Given the description of an element on the screen output the (x, y) to click on. 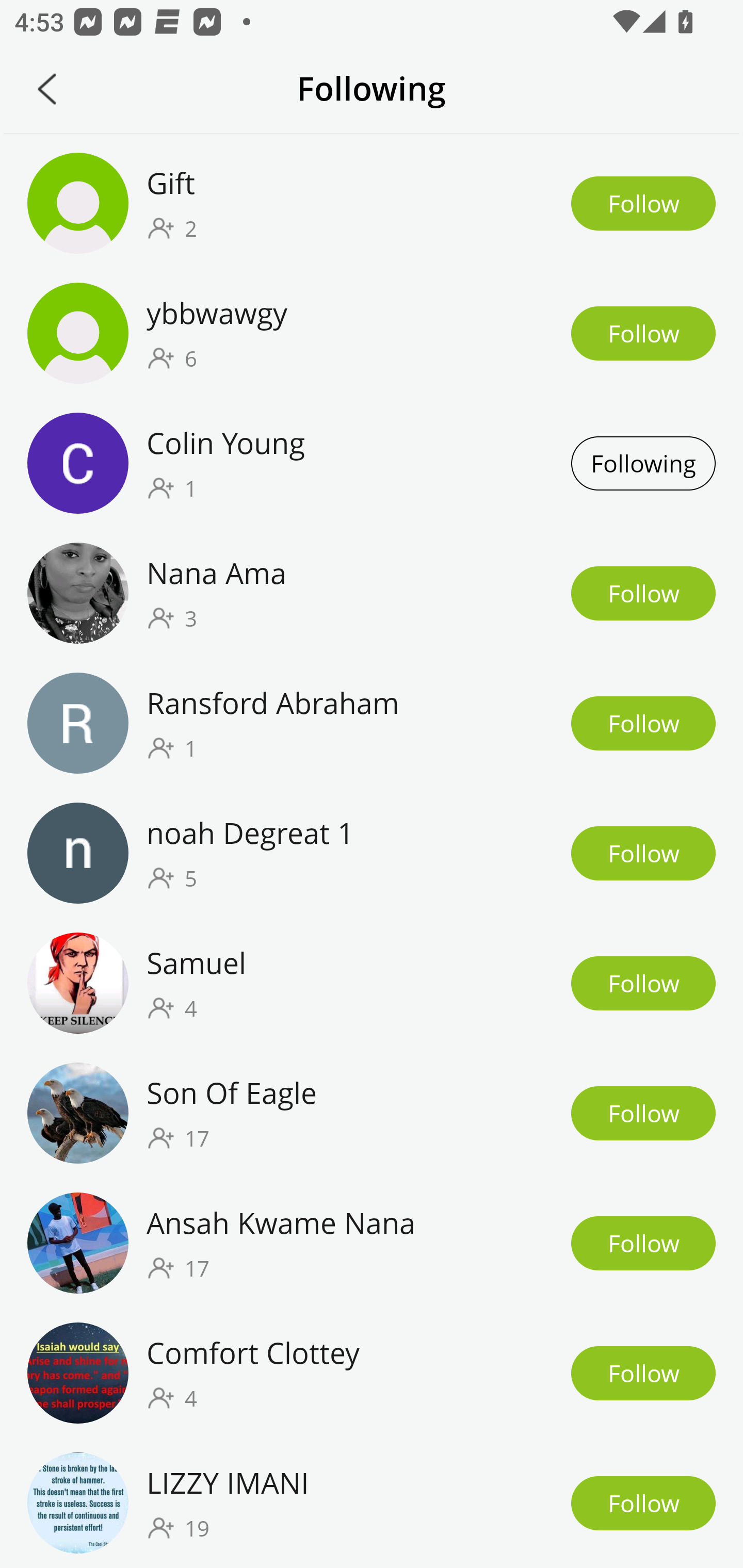
Back (46, 88)
Gift 2 Follow (371, 202)
Follow (643, 202)
ybbwawgy 6 Follow (371, 333)
Follow (643, 332)
Colin Young 1 Following (371, 463)
Following (643, 462)
Nana Ama 3 Follow (371, 593)
Follow (643, 593)
Ransford Abraham 1 Follow (371, 723)
Follow (643, 723)
noah Degreat 1 5 Follow (371, 853)
Follow (643, 853)
Samuel 4 Follow (371, 982)
Follow (643, 982)
Son Of Eagle 17 Follow (371, 1112)
Follow (643, 1112)
Ansah Kwame Nana 17 Follow (371, 1242)
Follow (643, 1243)
Comfort Clottey 4 Follow (371, 1372)
Follow (643, 1373)
LIZZY IMANI 19 Follow (371, 1502)
Follow (643, 1502)
